Given the description of an element on the screen output the (x, y) to click on. 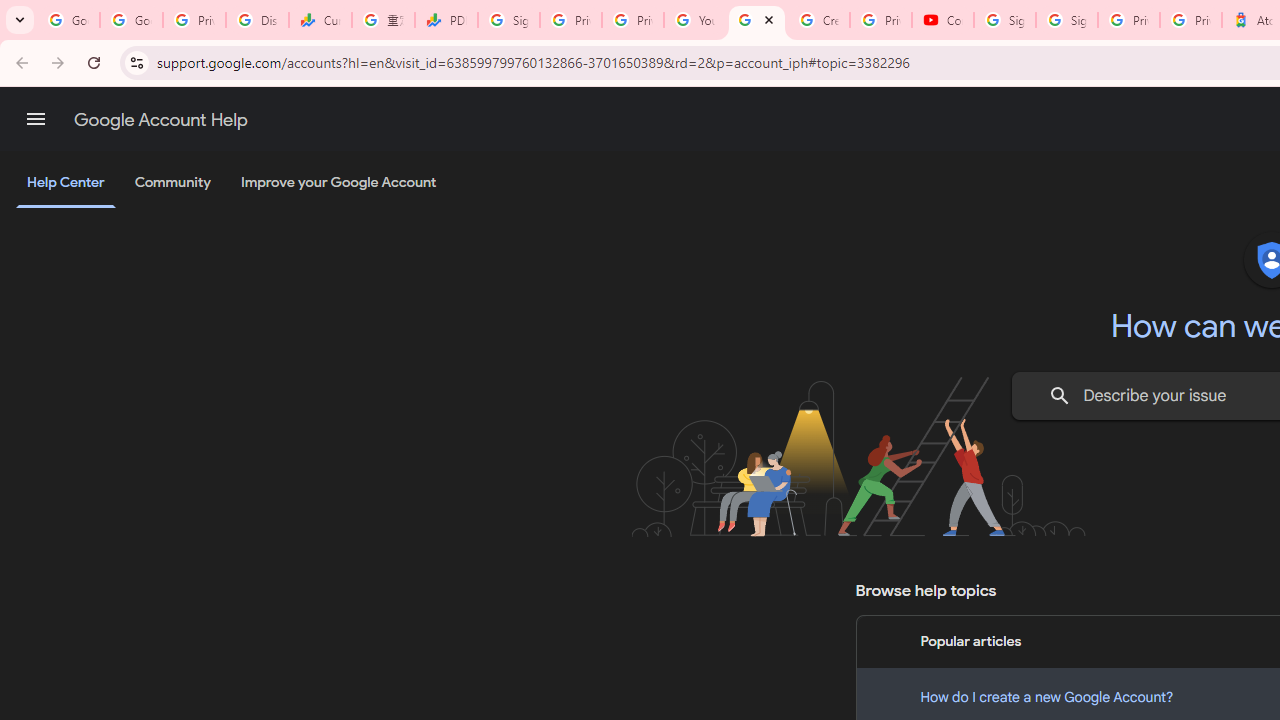
Google Account Help (160, 119)
Create your Google Account (818, 20)
